Given the description of an element on the screen output the (x, y) to click on. 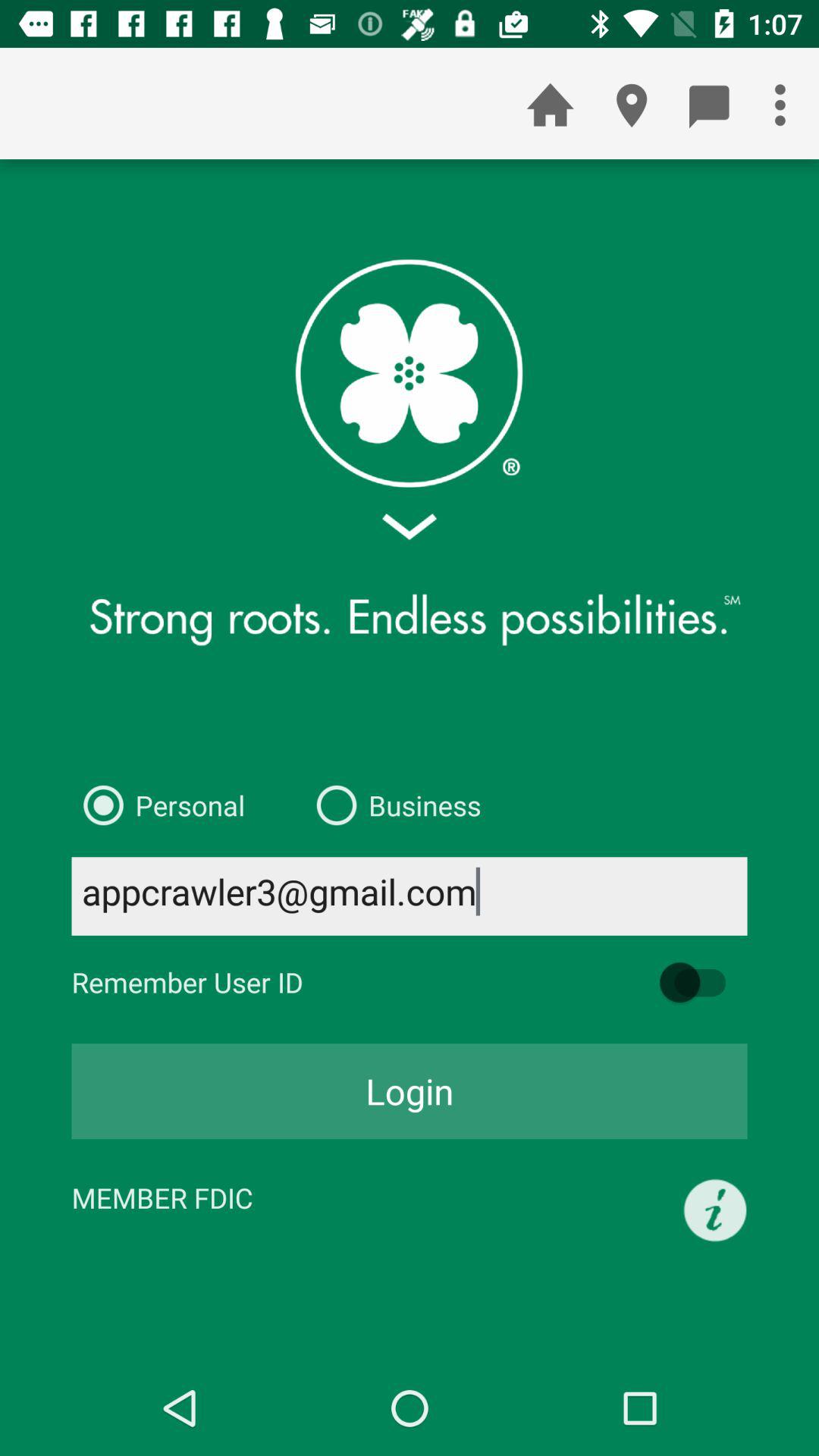
click icon to the left of the business (158, 805)
